Given the description of an element on the screen output the (x, y) to click on. 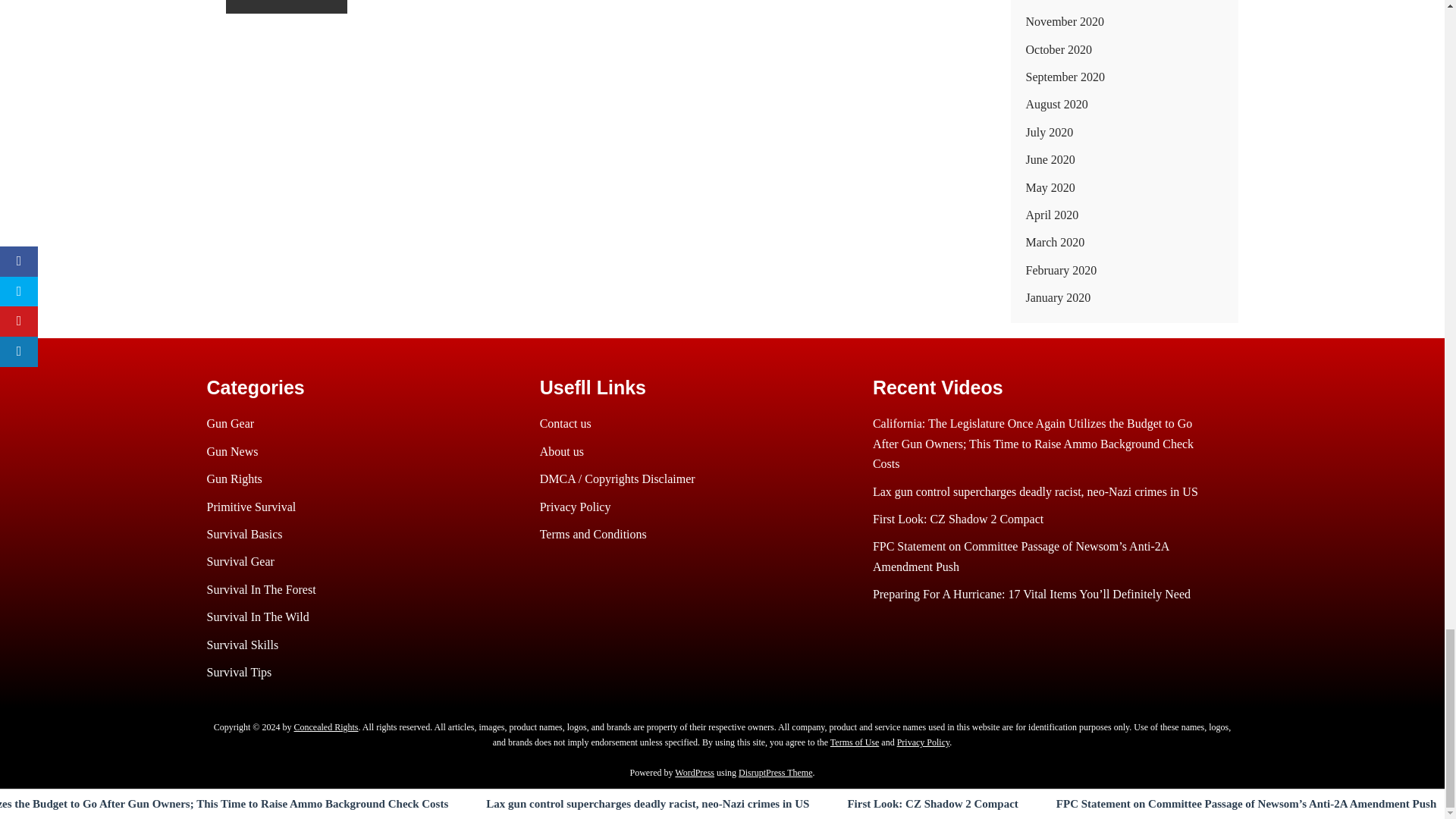
Post Comment (286, 6)
